Given the description of an element on the screen output the (x, y) to click on. 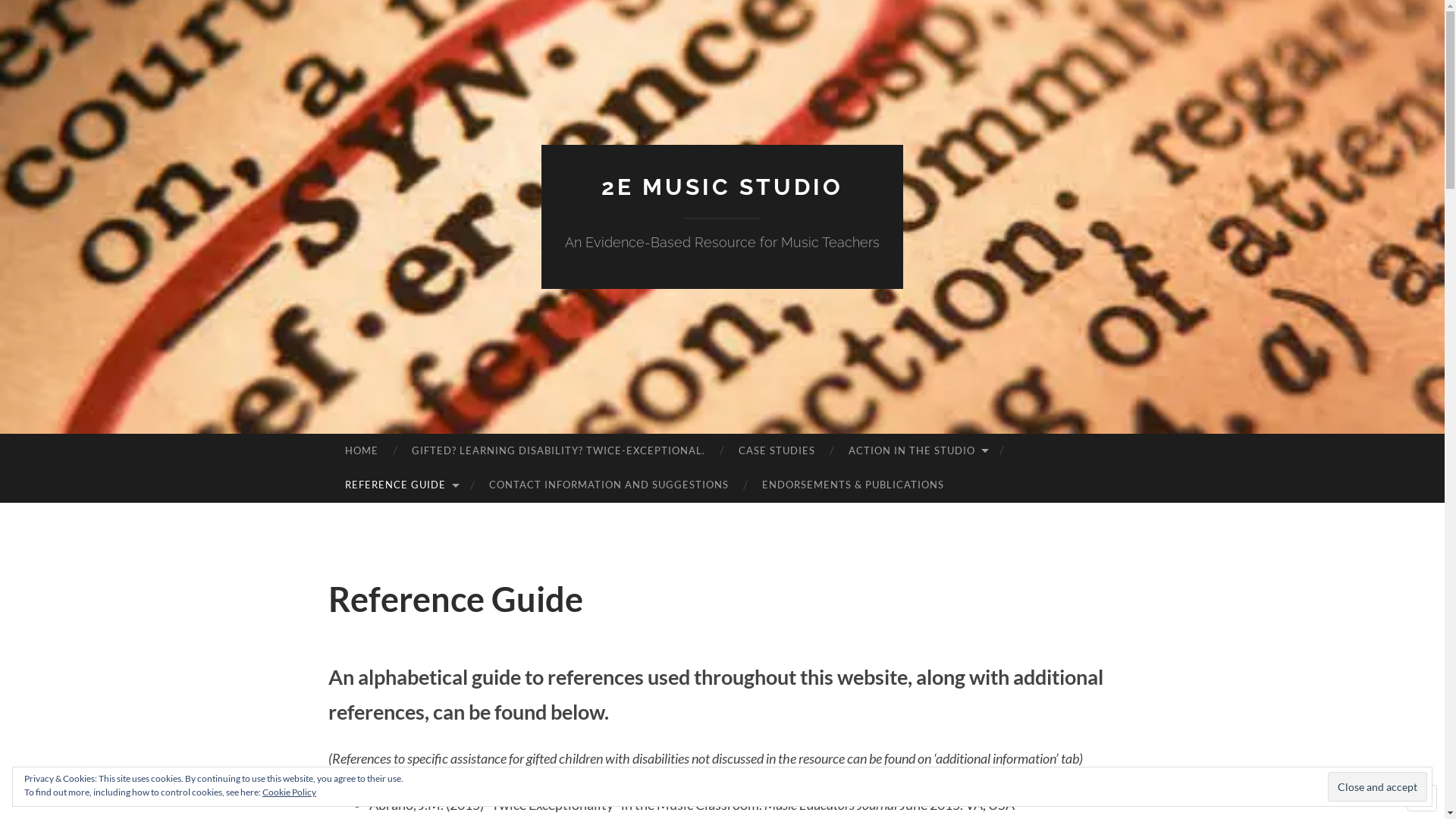
ACTION IN THE STUDIO Element type: text (916, 450)
Cookie Policy Element type: text (289, 791)
2E MUSIC STUDIO Element type: text (722, 186)
REFERENCE GUIDE Element type: text (399, 484)
CONTACT INFORMATION AND SUGGESTIONS Element type: text (608, 484)
CASE STUDIES Element type: text (776, 450)
GIFTED? LEARNING DISABILITY? TWICE-EXCEPTIONAL. Element type: text (558, 450)
ENDORSEMENTS & PUBLICATIONS Element type: text (852, 484)
Close and accept Element type: text (1377, 786)
HOME Element type: text (360, 450)
